Given the description of an element on the screen output the (x, y) to click on. 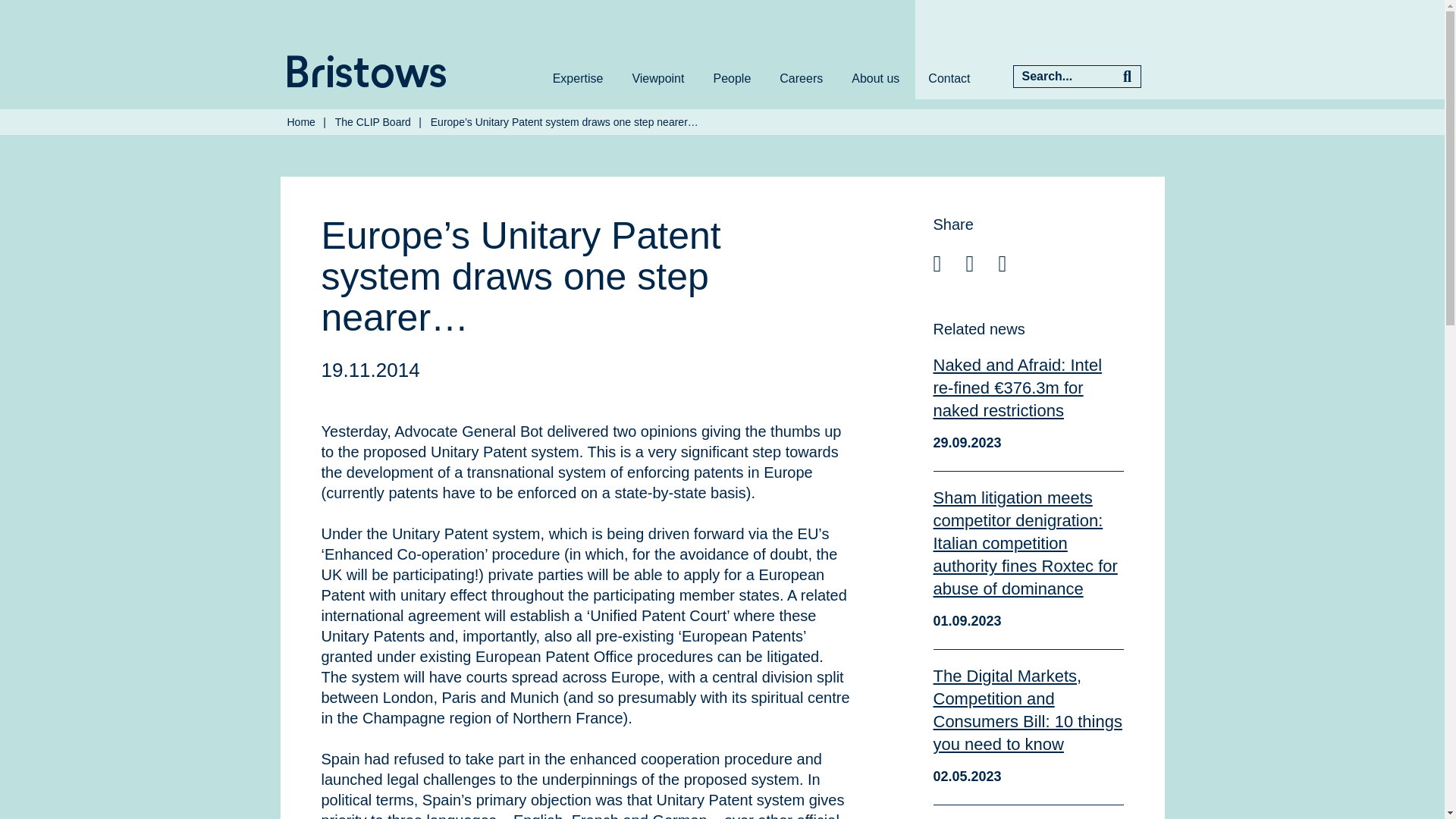
Search... (1063, 76)
Search (1127, 76)
Search (1127, 76)
